Given the description of an element on the screen output the (x, y) to click on. 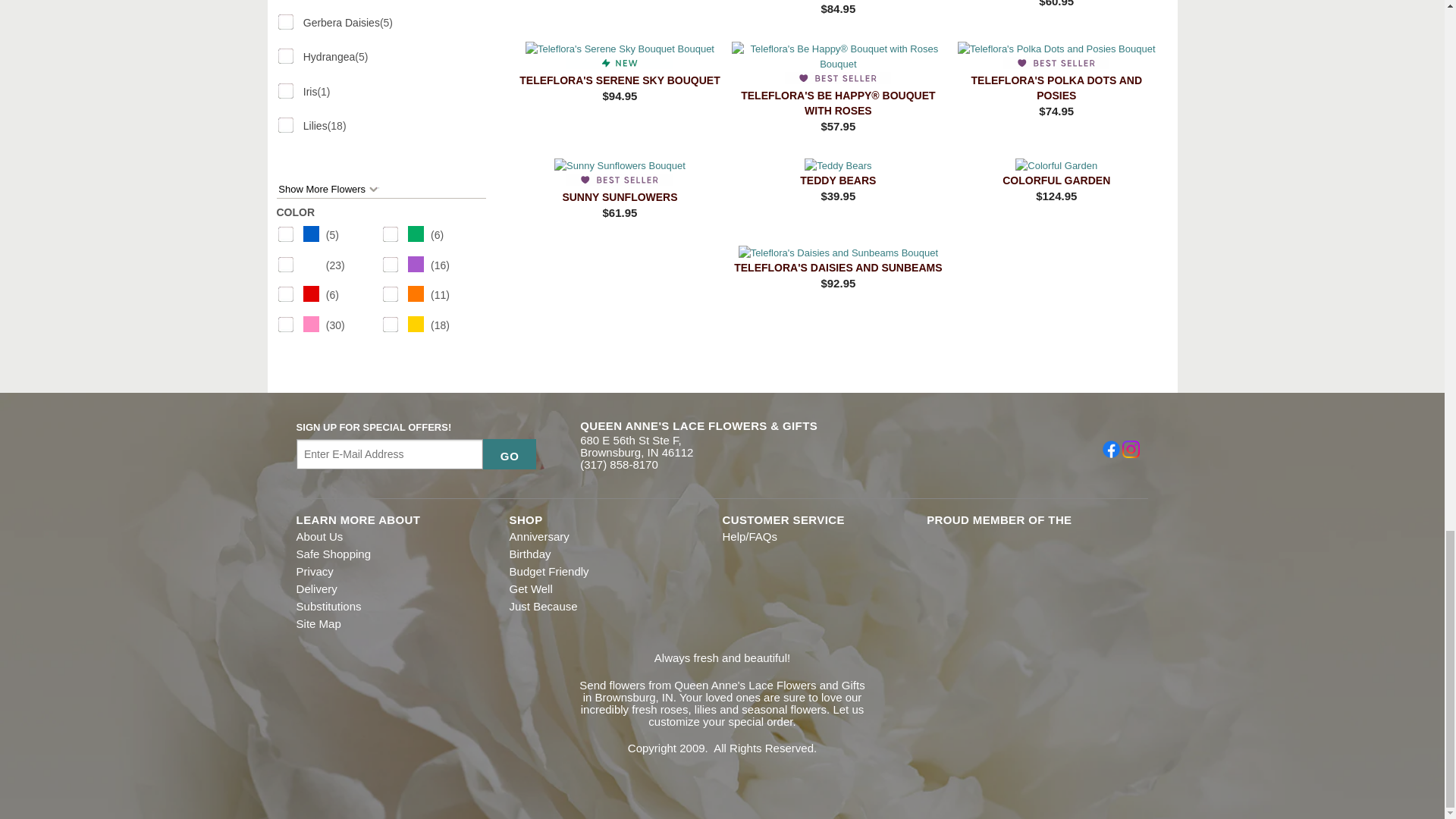
go (509, 453)
Go (509, 453)
Email Sign up (390, 453)
